Given the description of an element on the screen output the (x, y) to click on. 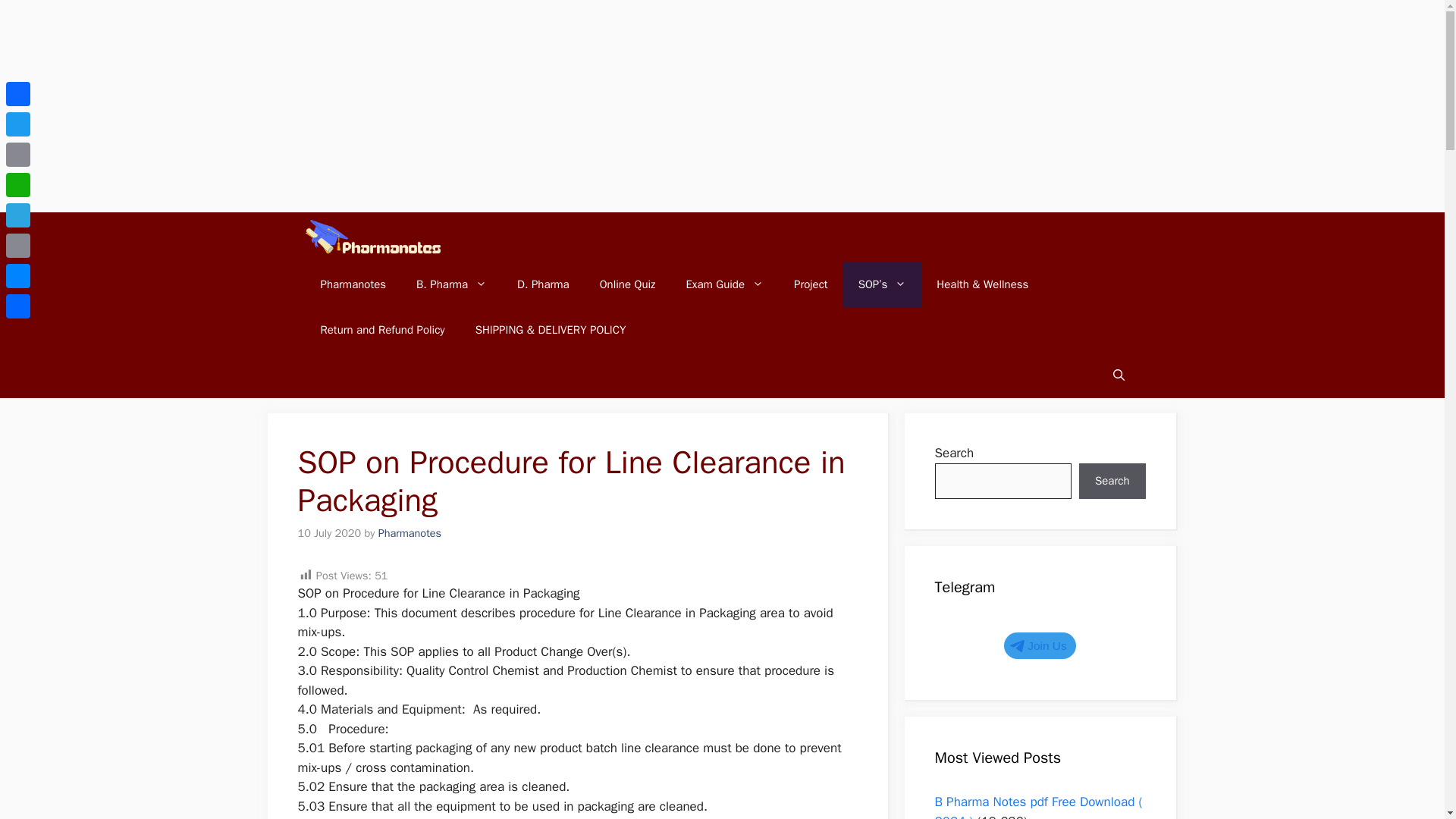
Exam Guide (723, 284)
Pharmanotes (352, 284)
View all posts by Pharmanotes (409, 532)
Pharmanotes (371, 236)
Project (810, 284)
D. Pharma (543, 284)
B. Pharma (451, 284)
Online Quiz (628, 284)
